Given the description of an element on the screen output the (x, y) to click on. 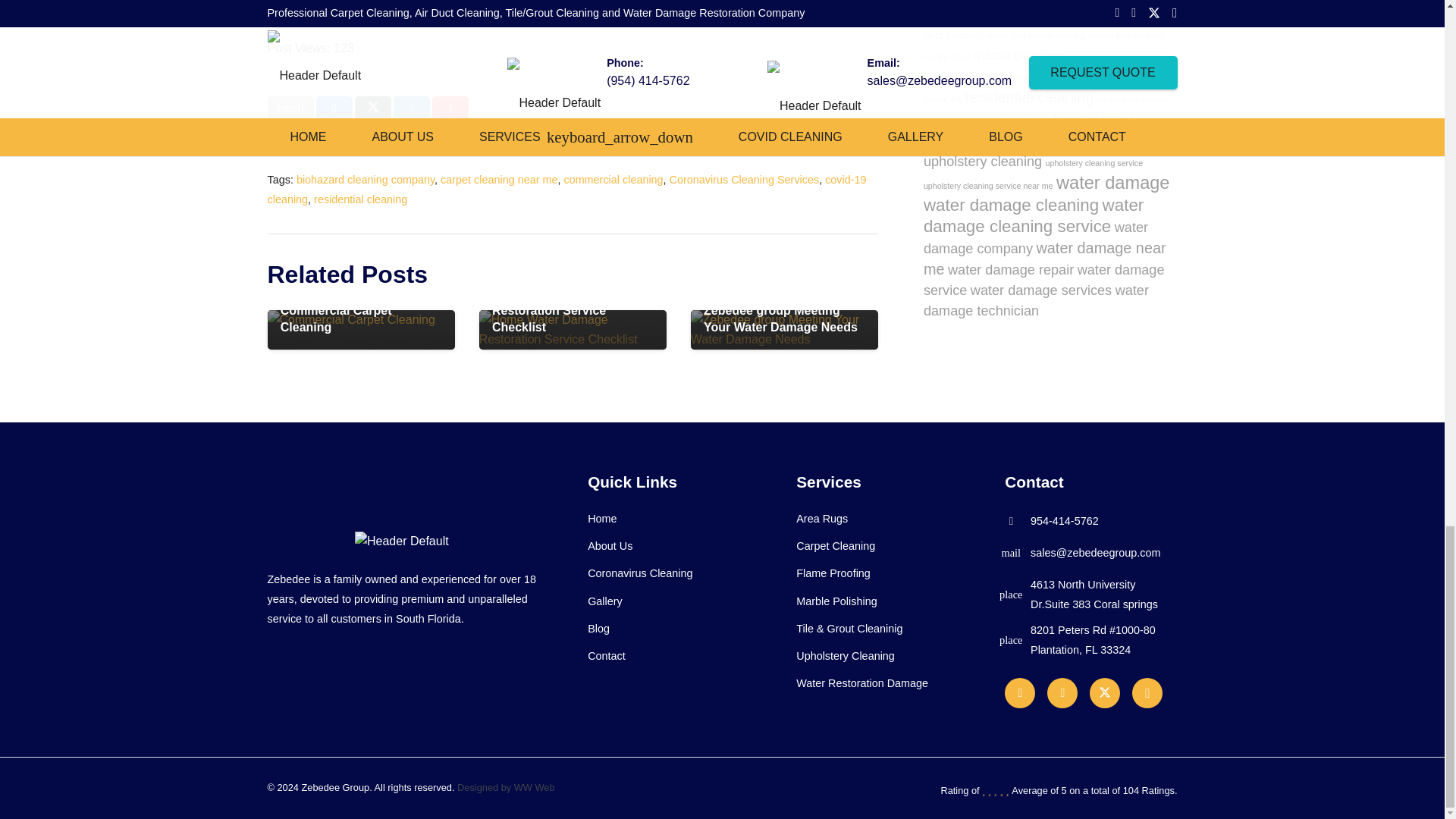
covid-19 cleaning (566, 189)
Instagram (1146, 693)
carpet cleaning near me (499, 179)
Email this (289, 108)
Tweet this (373, 108)
Coronavirus Cleaning Services (744, 179)
biohazard cleaning company (365, 179)
Share this (411, 108)
residential cleaning (360, 199)
Share this (333, 108)
